Given the description of an element on the screen output the (x, y) to click on. 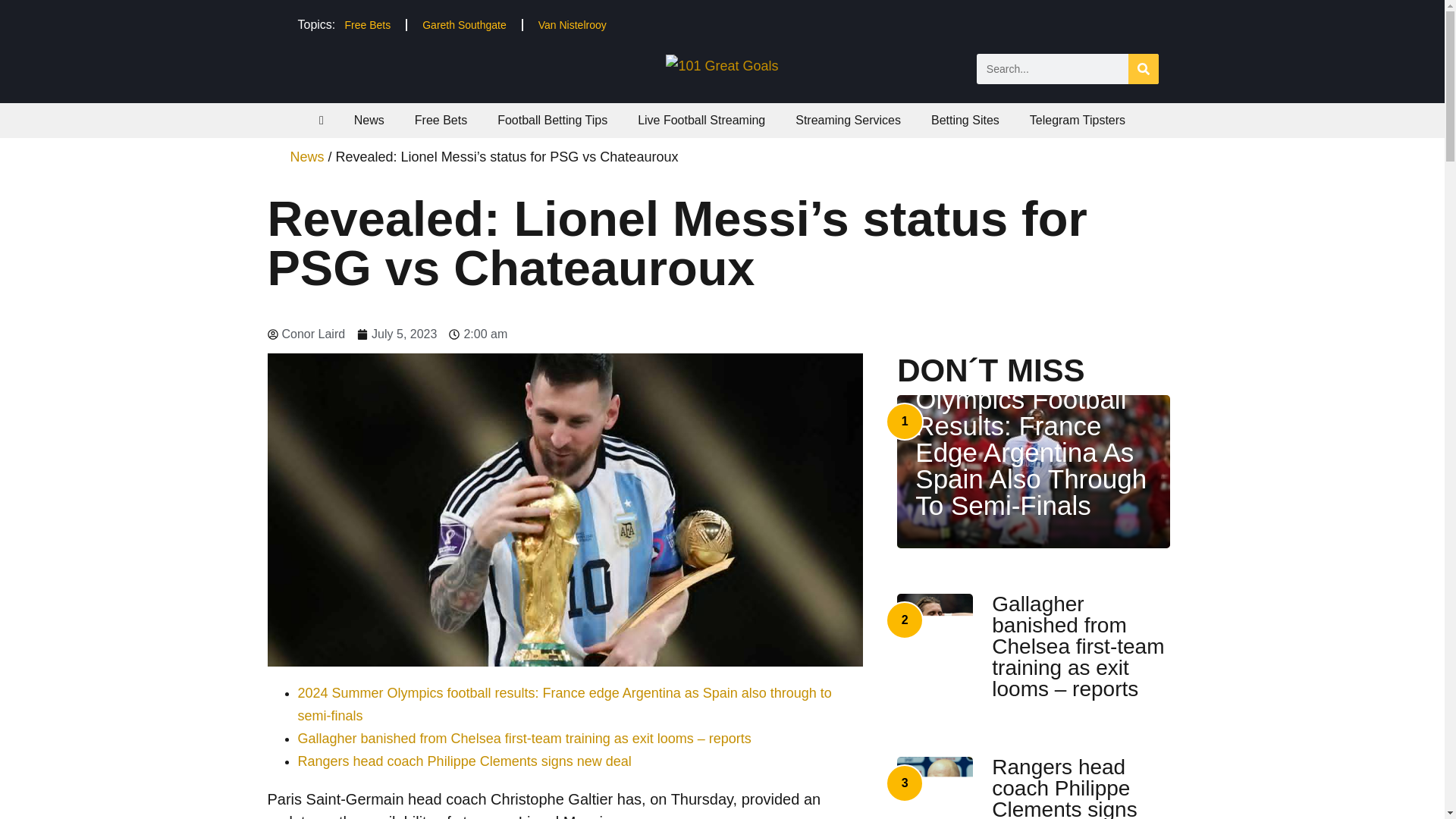
Free Bets (439, 120)
Free Bets (367, 24)
Football Betting Tips (552, 120)
Gareth Southgate (464, 24)
Live Football Streaming (701, 120)
Streaming Services (847, 120)
101 Great Goals (721, 65)
Van Nistelrooy (571, 24)
News (368, 120)
